Given the description of an element on the screen output the (x, y) to click on. 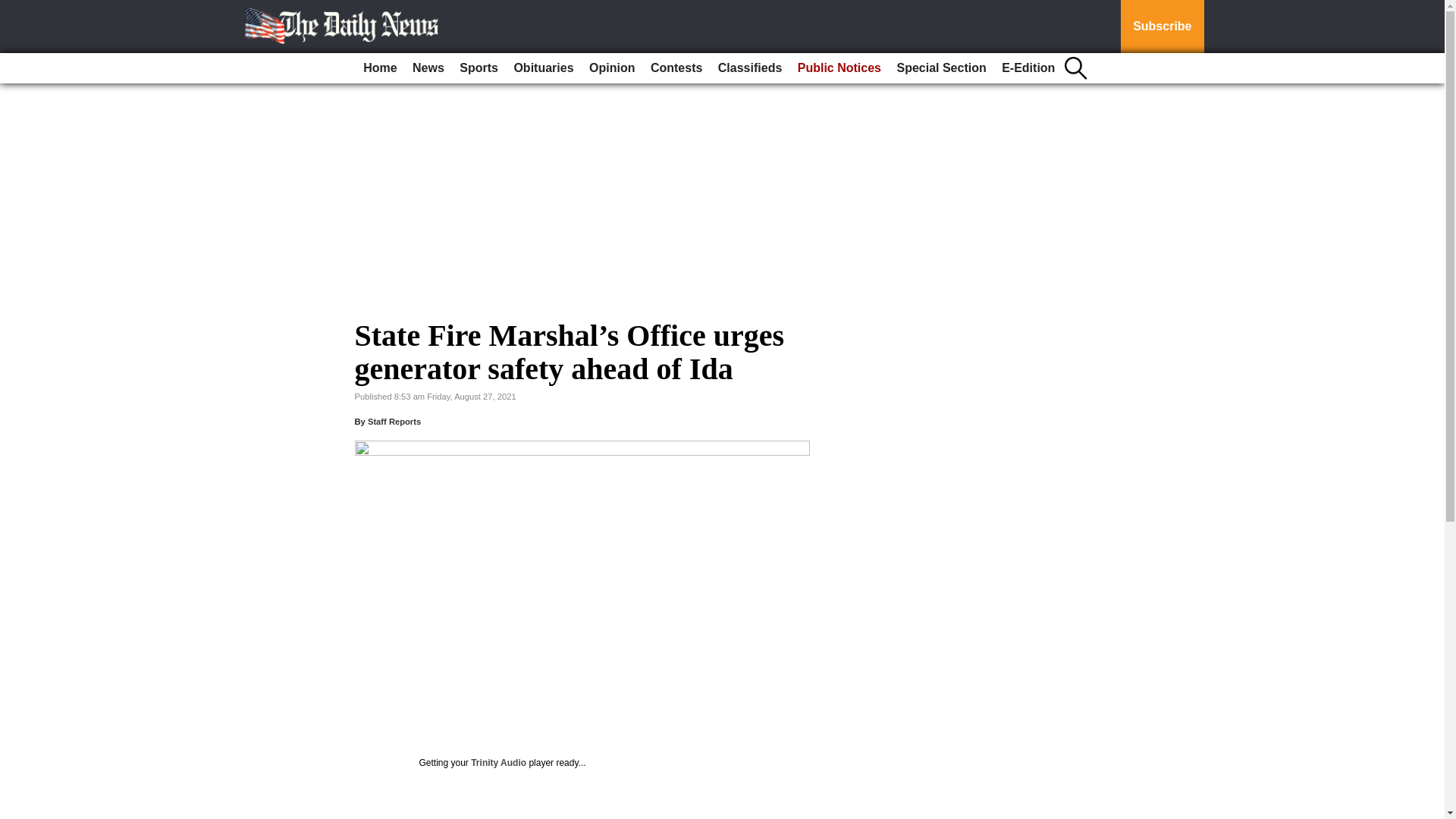
Subscribe (1162, 26)
Home (379, 68)
Obituaries (542, 68)
Special Section (940, 68)
Opinion (611, 68)
Classifieds (749, 68)
Staff Reports (394, 420)
News (427, 68)
Contests (676, 68)
Go (13, 9)
